Given the description of an element on the screen output the (x, y) to click on. 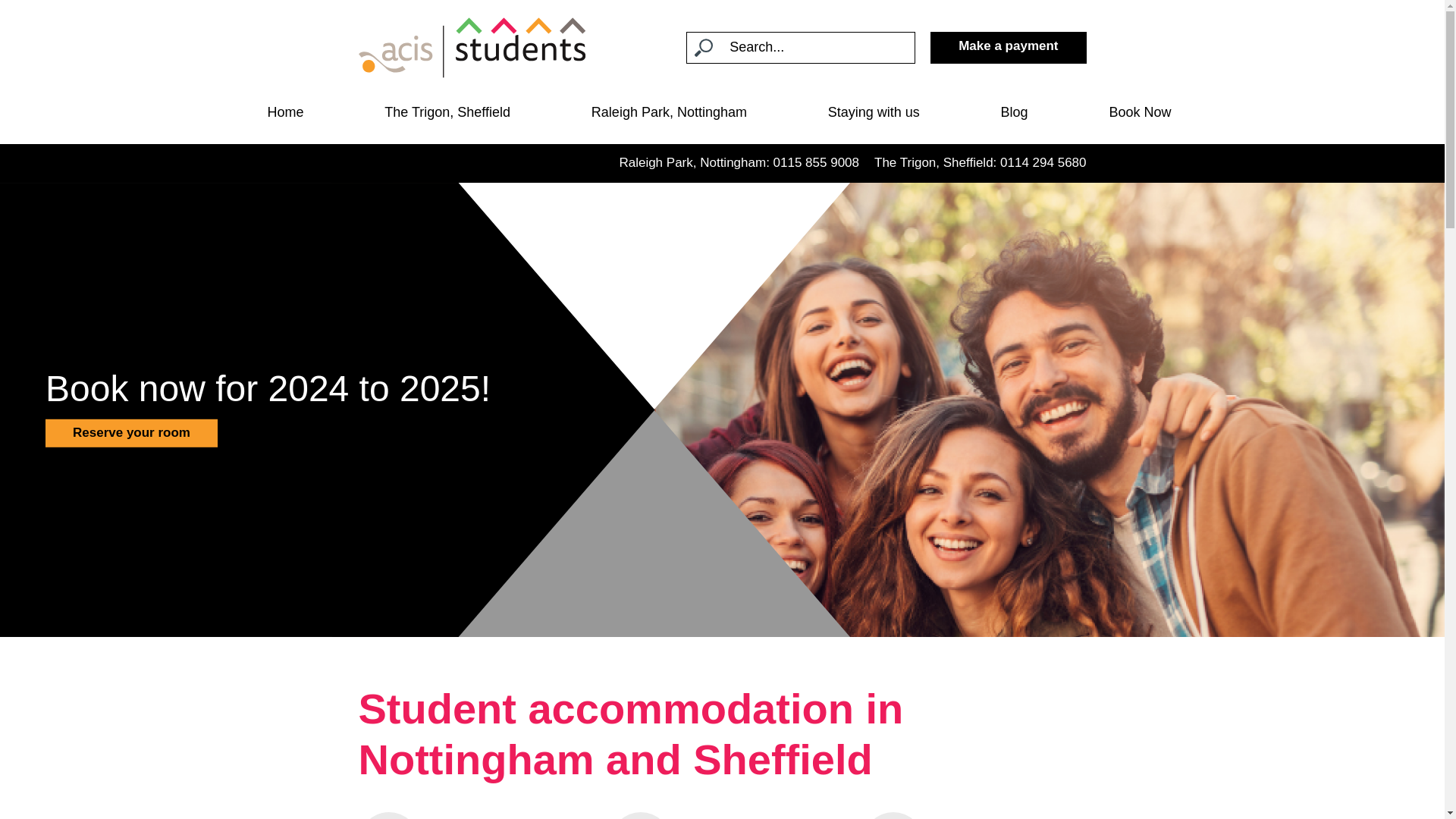
0115 855 9008 (816, 162)
Pause (32, 614)
0114 294 5680 (1043, 162)
Raleigh Park, Nottingham (668, 116)
Blog (1014, 116)
Home (284, 116)
The Trigon, Sheffield (447, 116)
Make a payment (1008, 47)
Book Now (1139, 116)
Reserve your room (130, 433)
Staying with us (874, 116)
Acis Students (471, 47)
